Given the description of an element on the screen output the (x, y) to click on. 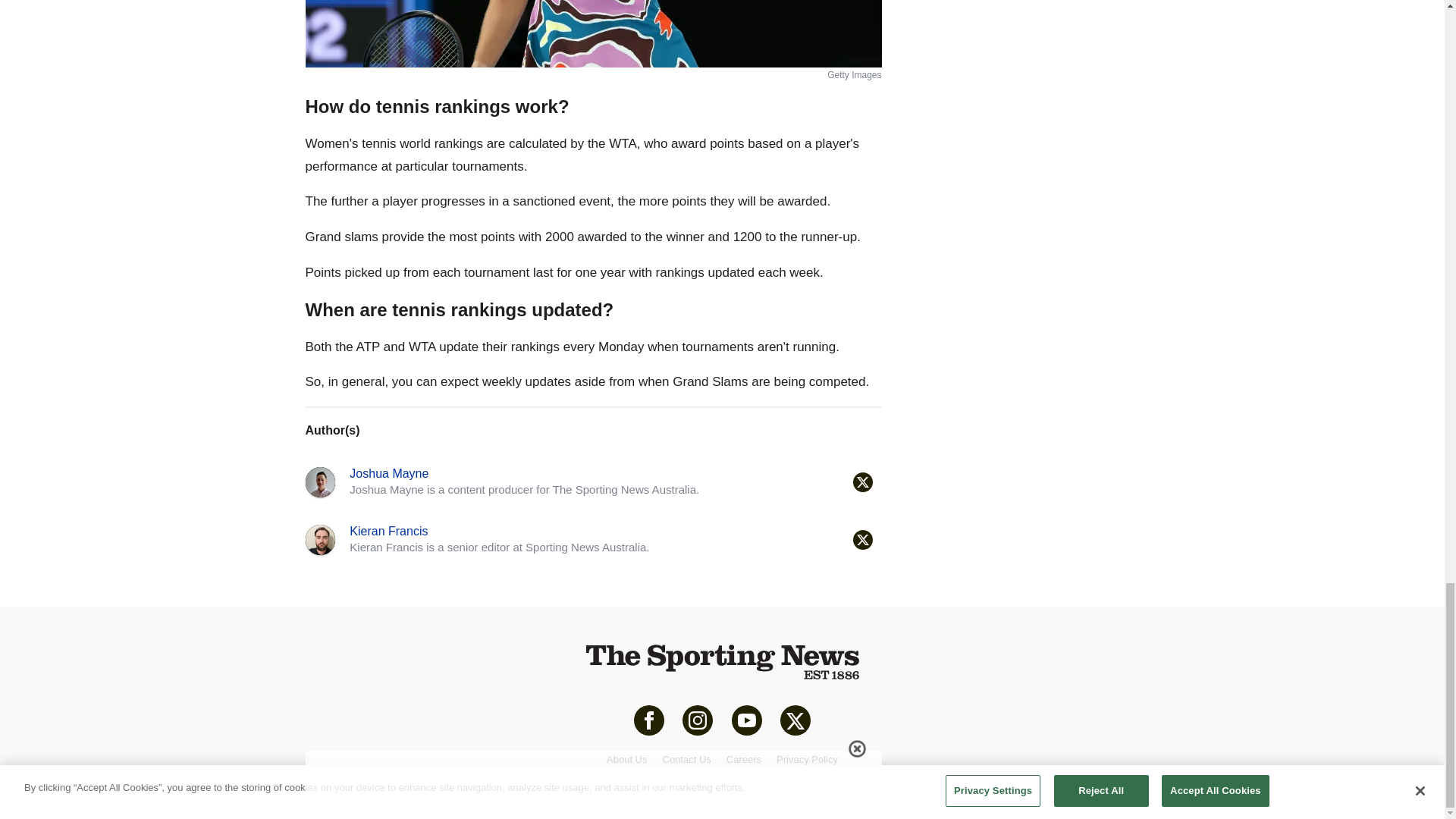
Aryna Sabalenka Australian Open (592, 33)
Open the author page on Twitter (861, 482)
Open the author page on Twitter (861, 539)
